Given the description of an element on the screen output the (x, y) to click on. 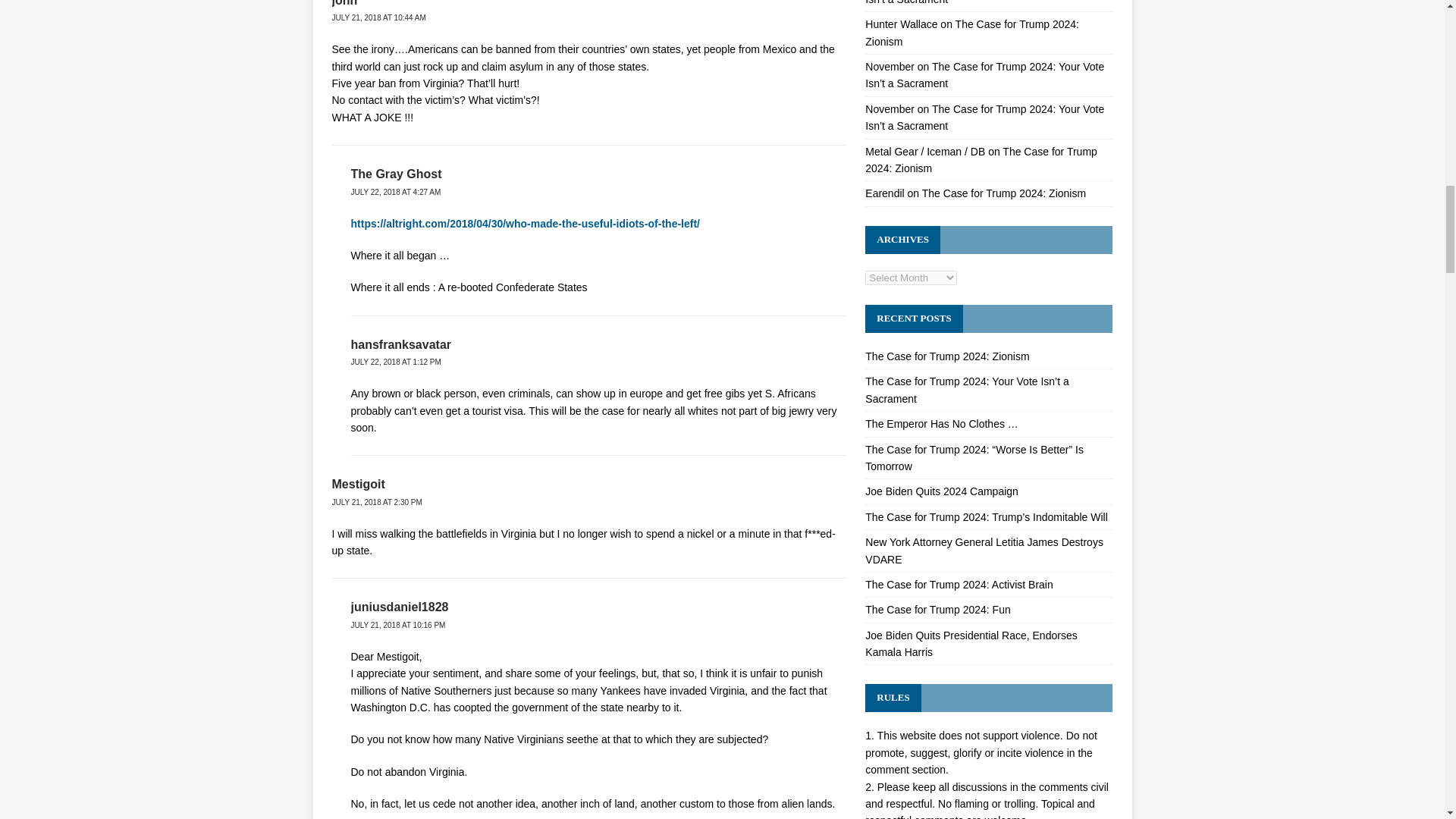
JULY 21, 2018 AT 10:44 AM (378, 17)
JULY 22, 2018 AT 4:27 AM (395, 192)
hansfranksavatar (400, 344)
john (344, 3)
